Given the description of an element on the screen output the (x, y) to click on. 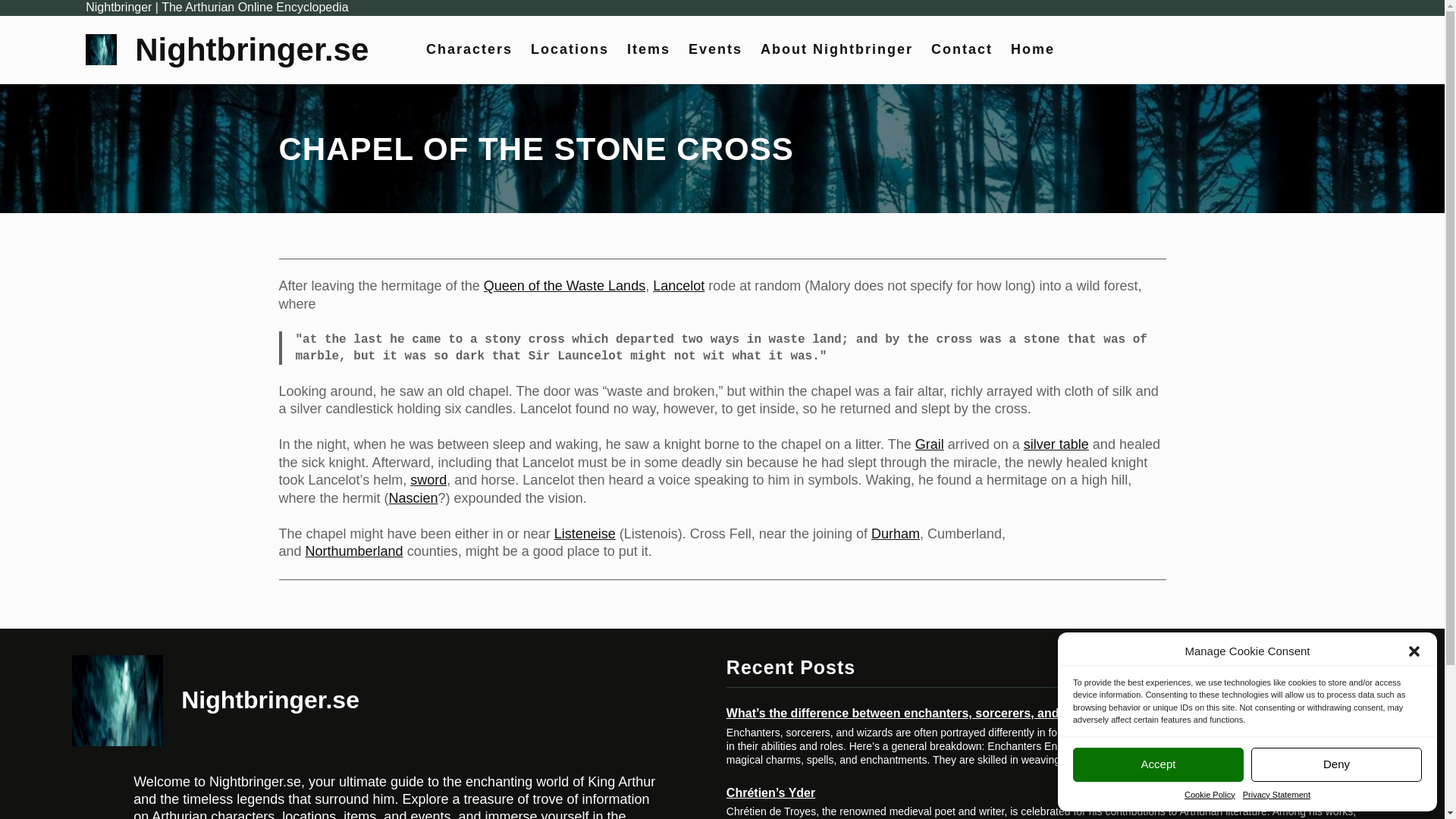
Nightbringer.se (251, 49)
Durham (895, 533)
About Nightbringer (836, 49)
Items (648, 49)
Deny (1336, 764)
Nightbringer.se (269, 699)
silver table (1056, 444)
Grail (929, 444)
Queen of the Waste Lands (564, 285)
Nascien (413, 498)
sword (428, 479)
Northumberland (354, 550)
Events (715, 49)
Lancelot (678, 285)
Contact (961, 49)
